Given the description of an element on the screen output the (x, y) to click on. 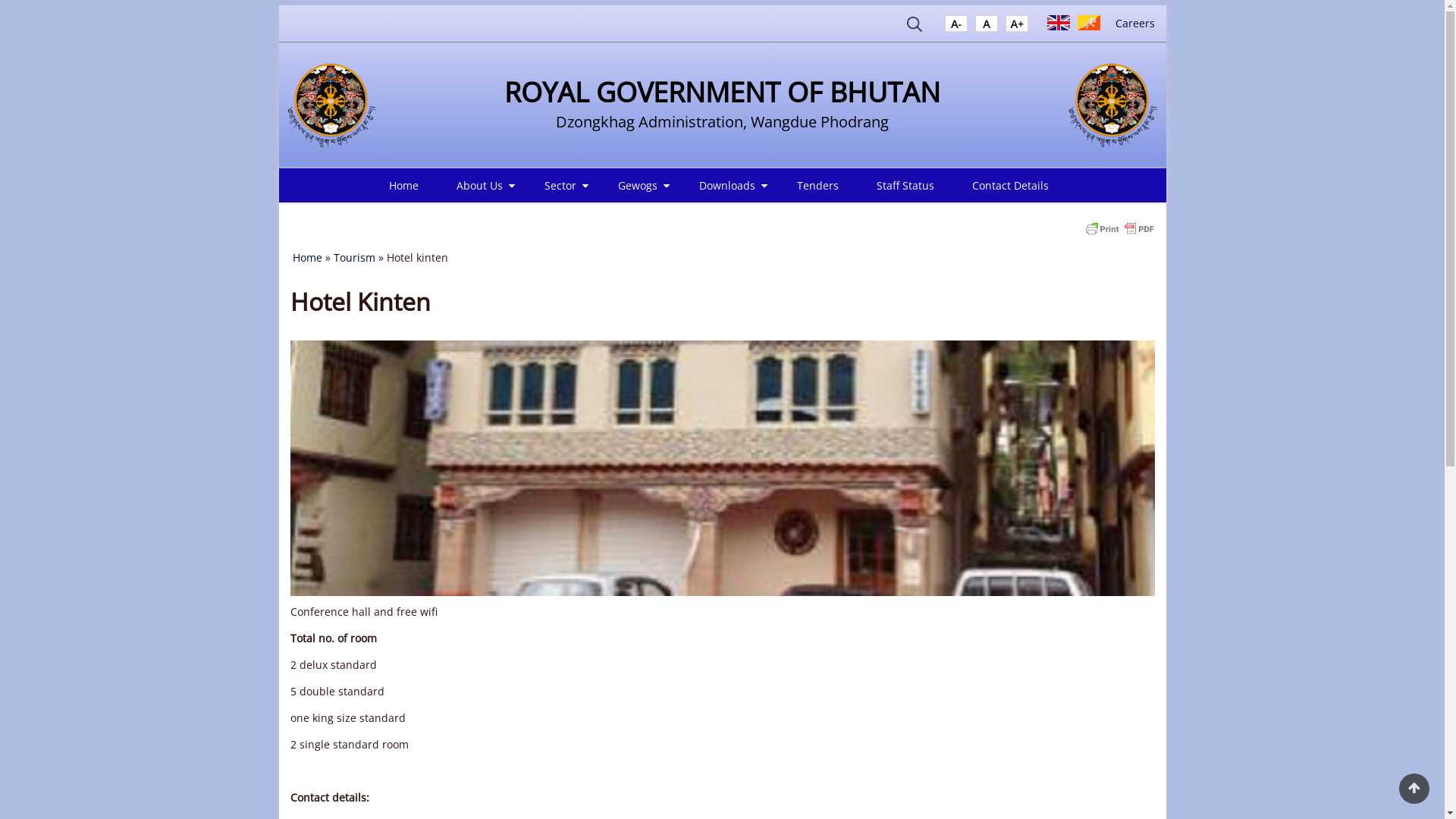
Search Element type: text (914, 26)
Gewogs Element type: text (638, 185)
Home Element type: hover (331, 105)
Printer Friendly, PDF & Email Element type: hover (1119, 227)
Careers Element type: text (1134, 22)
About Us Element type: text (481, 185)
Contact Details Element type: text (1010, 185)
Tourism Element type: text (354, 257)
Sector Element type: text (562, 185)
Tenders Element type: text (817, 185)
Downloads Element type: text (729, 185)
Home Element type: text (403, 185)
Home Element type: text (307, 257)
ROYAL GOVERNMENT OF BHUTAN Element type: text (722, 91)
Back to Top Element type: hover (1414, 788)
Staff Status Element type: text (905, 185)
A Element type: text (1016, 26)
A Element type: text (955, 26)
Skip to main content Element type: text (0, 0)
A Element type: text (986, 26)
Home Element type: hover (1112, 105)
